Given the description of an element on the screen output the (x, y) to click on. 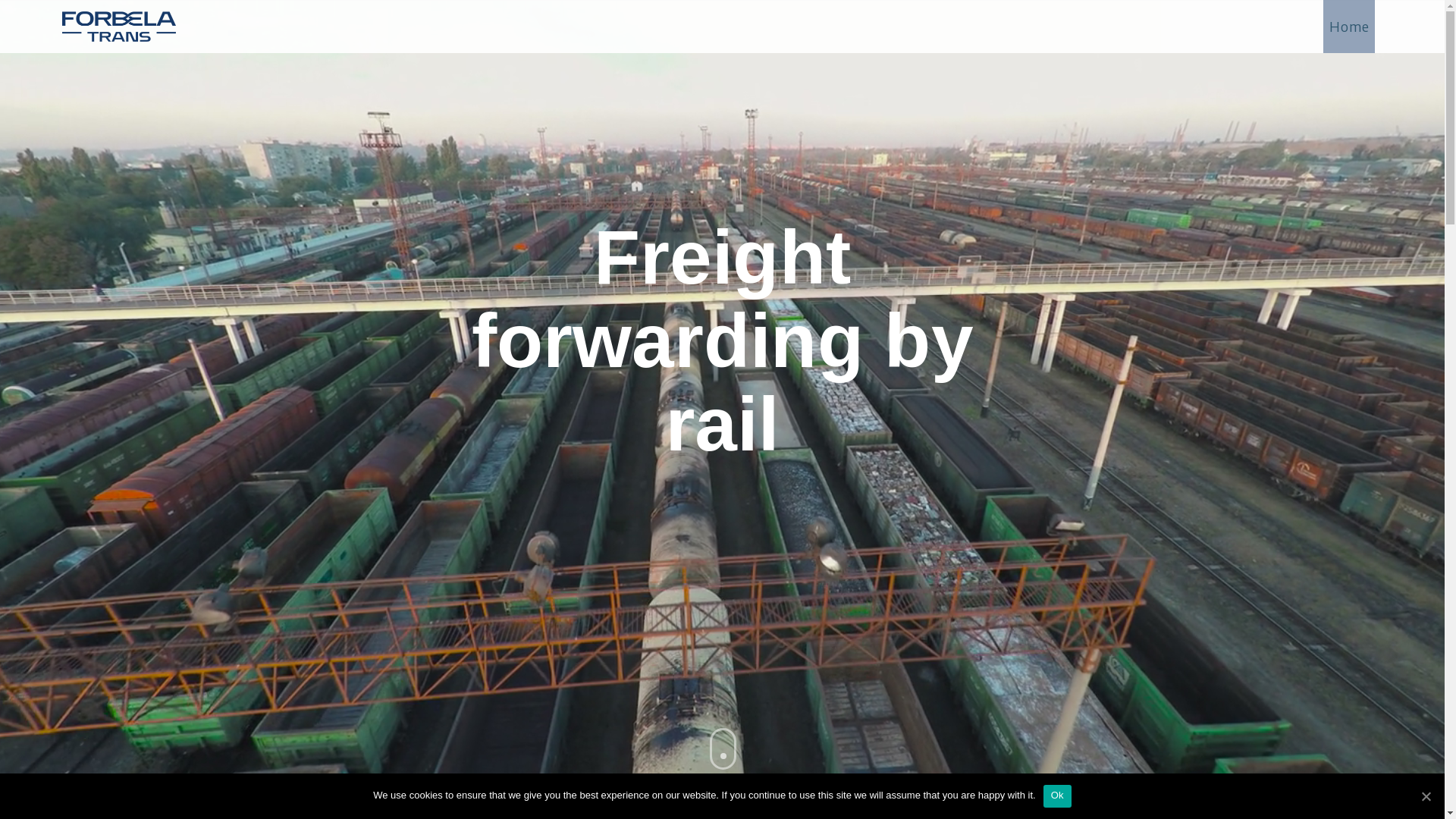
Home Element type: text (1348, 26)
Ok Element type: text (1057, 795)
